Given the description of an element on the screen output the (x, y) to click on. 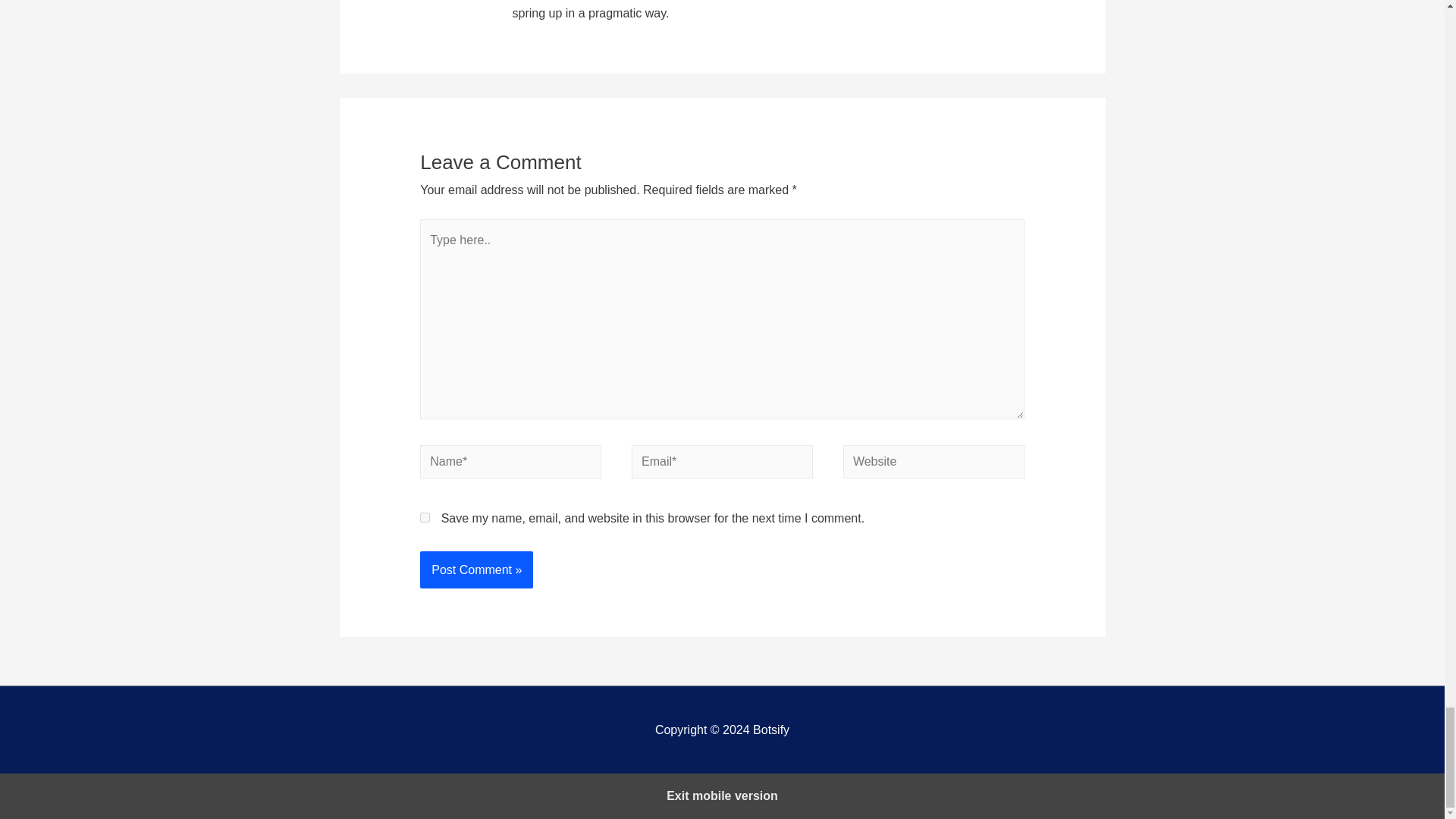
yes (424, 517)
